Given the description of an element on the screen output the (x, y) to click on. 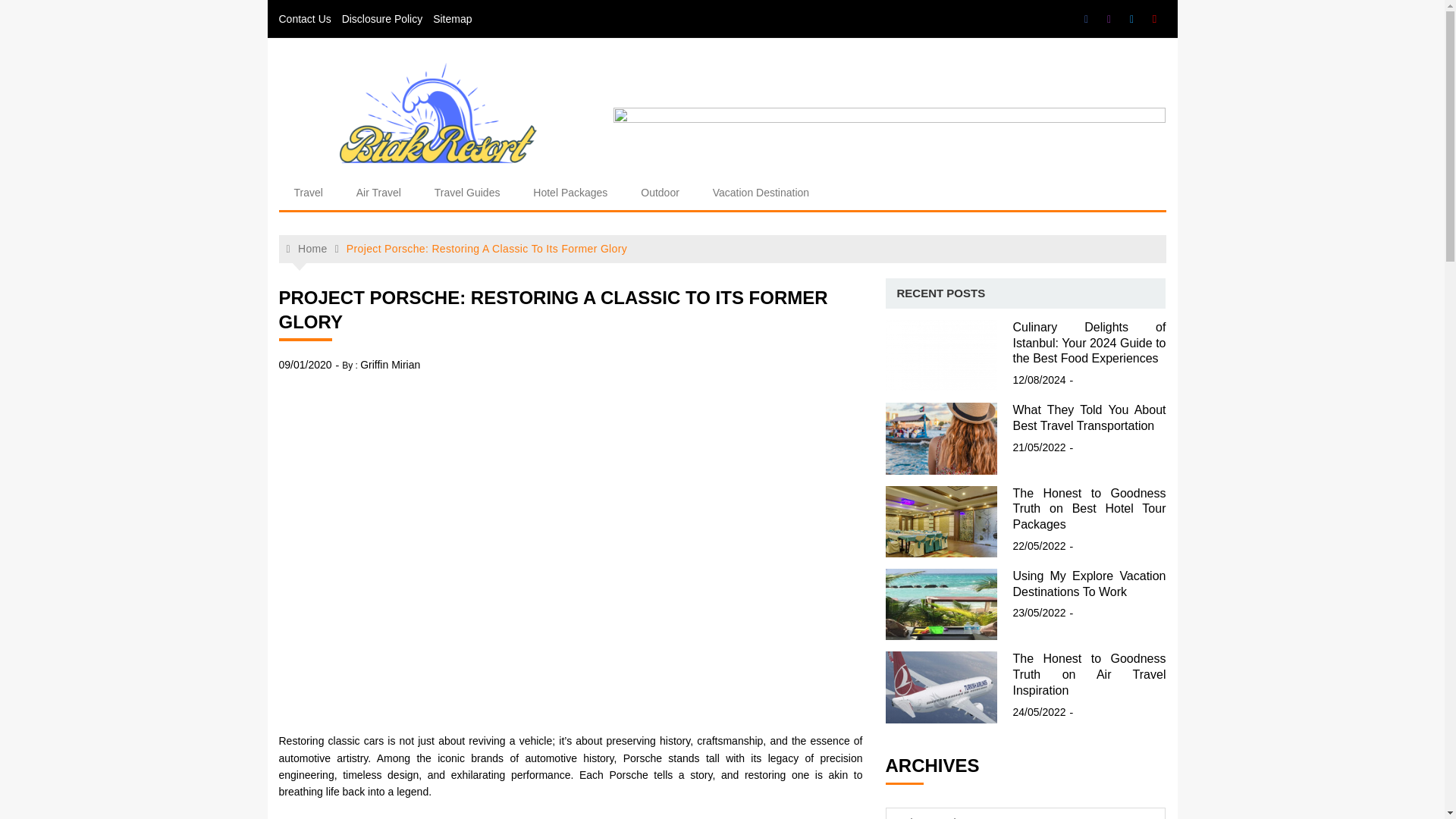
Travel (308, 192)
Outdoor (660, 192)
Home (306, 248)
Griffin Mirian (389, 364)
What They Told You About Best Travel Transportation 4 (941, 438)
The Honest to Goodness Truth on Best Hotel Tour Packages 5 (941, 521)
Using My Explore Vacation Destinations To Work (1088, 583)
Using My Explore Vacation Destinations To Work 6 (941, 603)
